Given the description of an element on the screen output the (x, y) to click on. 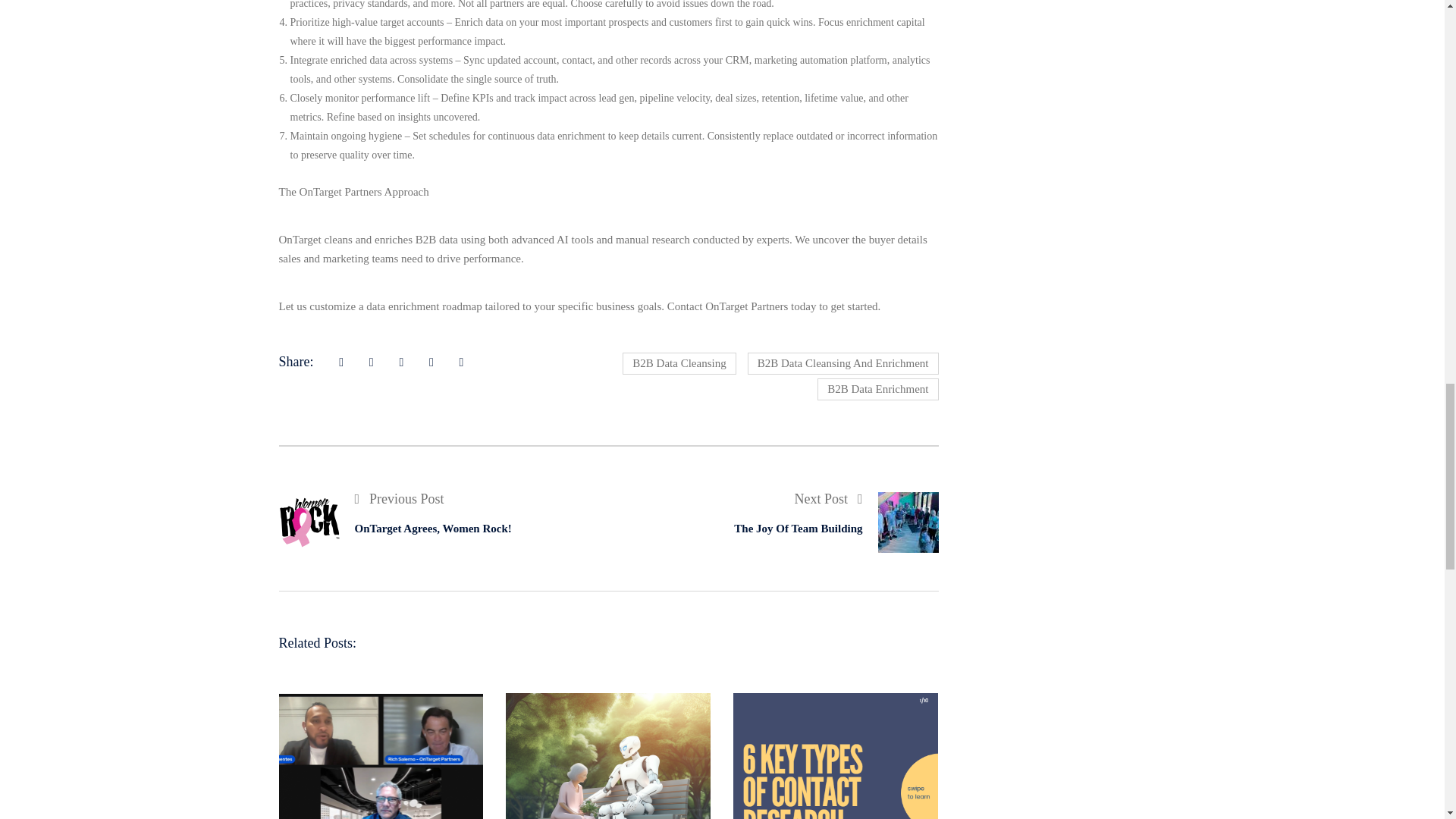
B2B Data Cleansing (461, 514)
Six-Key-Types-of-Contact-Research (679, 363)
GenAI Robot Giving Flowers (835, 755)
Rumble-in-the-Jungle-04-22-2024 (607, 755)
B2B Data Enrichment (381, 755)
B2B Data Cleansing And Enrichment (876, 389)
